Given the description of an element on the screen output the (x, y) to click on. 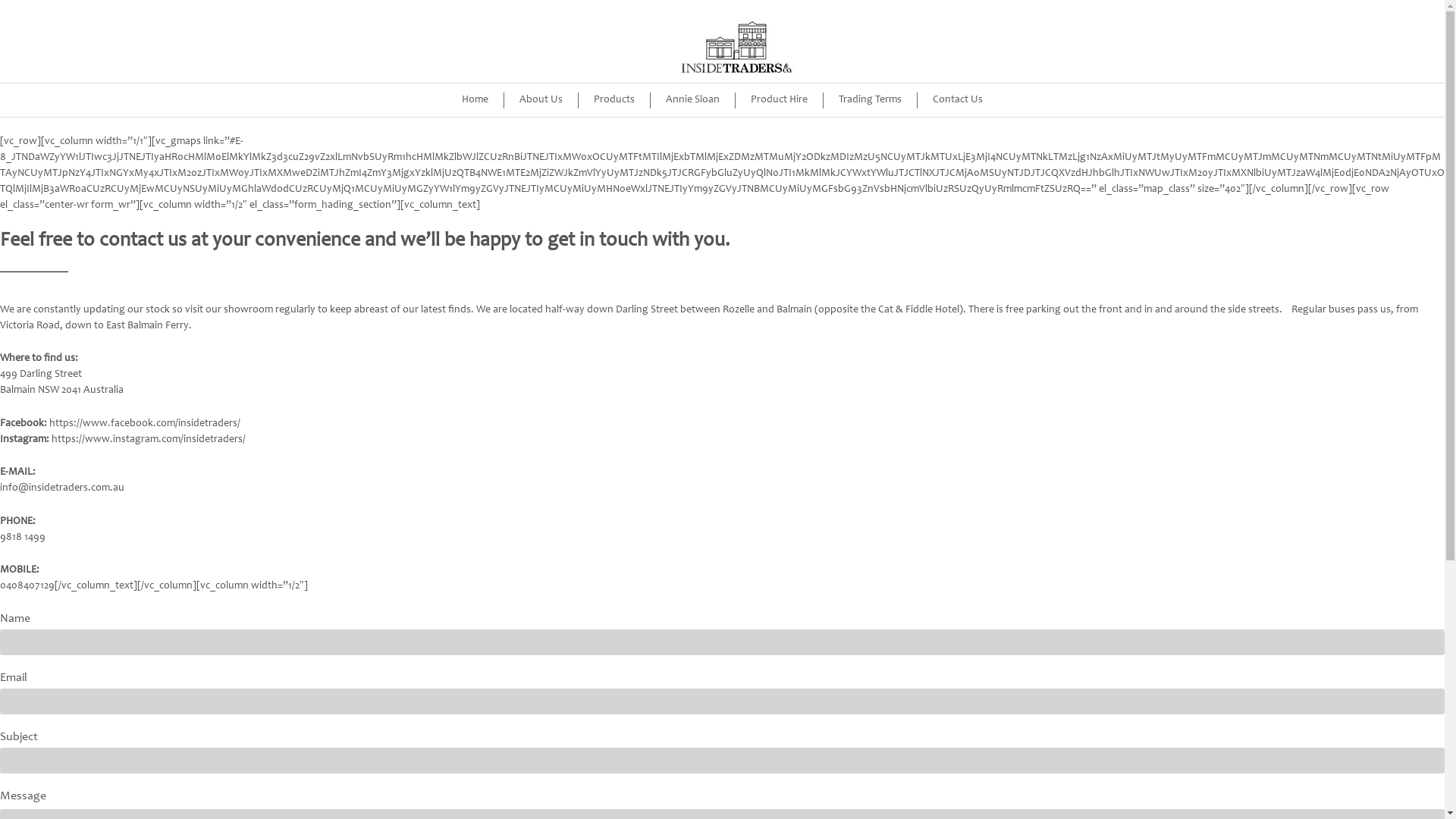
Contact Us Element type: text (957, 100)
About Us Element type: text (541, 100)
Product Hire Element type: text (779, 100)
Products Element type: text (614, 100)
Home Element type: text (475, 100)
info@insidetraders.com.au Element type: text (62, 488)
https://www.facebook.com/insidetraders/ Element type: text (144, 423)
https://www.instagram.com/insidetraders/ Element type: text (148, 439)
Annie Sloan Element type: text (692, 100)
Trading Terms Element type: text (870, 100)
